Given the description of an element on the screen output the (x, y) to click on. 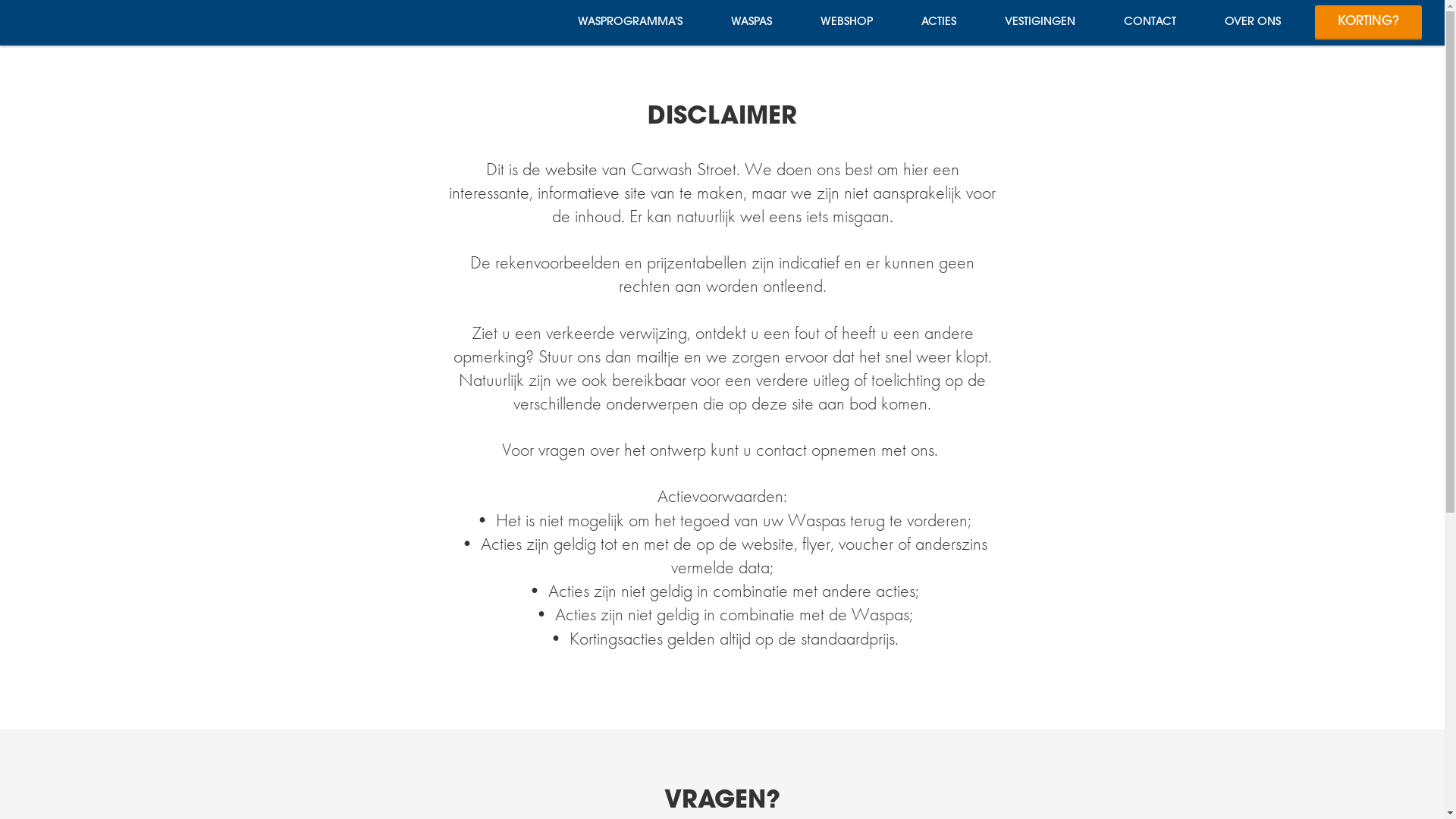
ACTIES Element type: text (938, 22)
OVER ONS Element type: text (1252, 22)
WASPAS Element type: text (751, 22)
CONTACT Element type: text (1149, 22)
WASPROGRAMMA'S Element type: text (630, 22)
WEBSHOP Element type: text (846, 22)
VESTIGINGEN Element type: text (1040, 22)
KORTING? Element type: text (1367, 22)
